Given the description of an element on the screen output the (x, y) to click on. 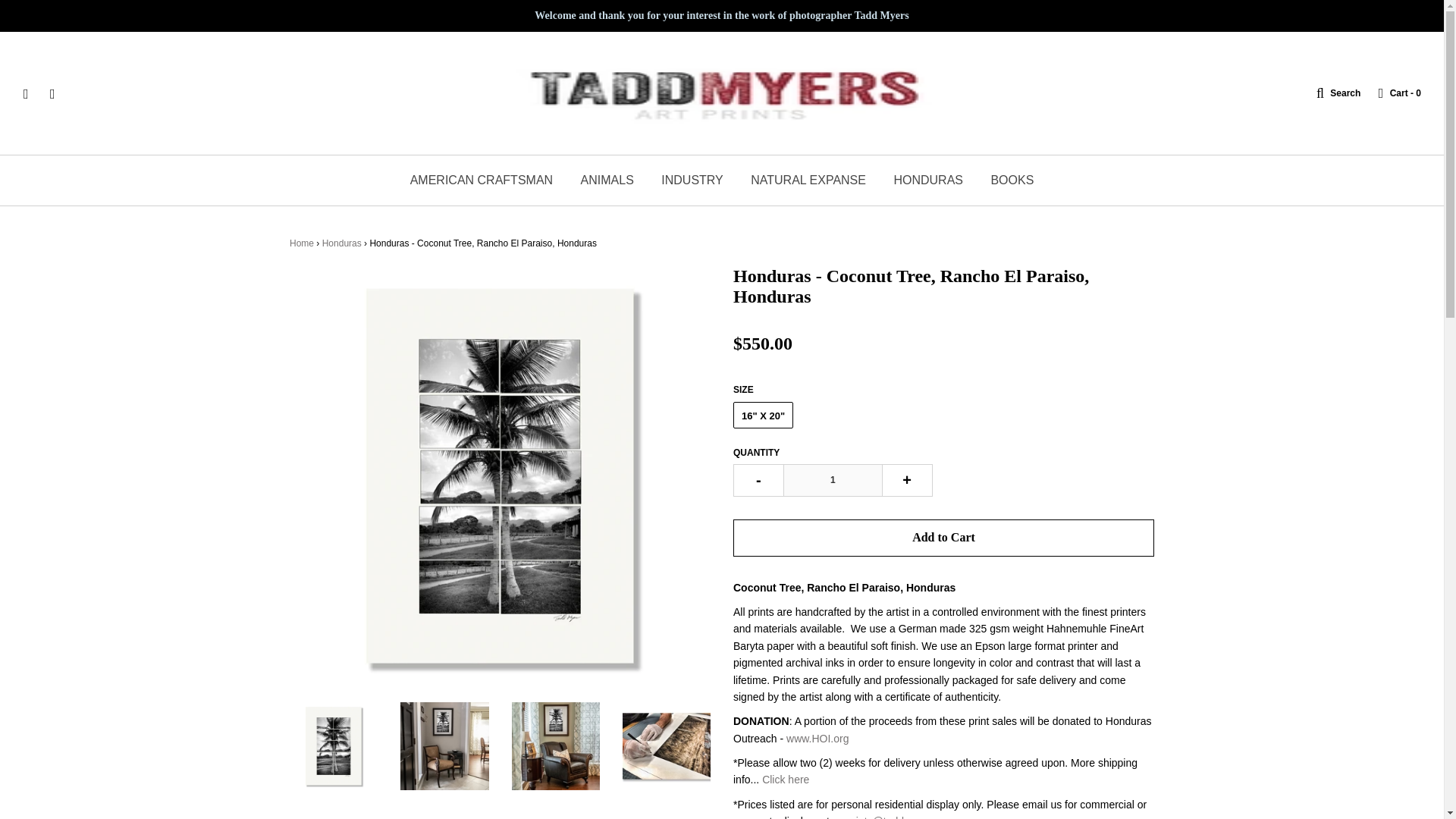
Home (301, 243)
INDUSTRY (692, 180)
AMERICAN CRAFTSMAN (481, 180)
Honduras - Coconut Tree, Rancho El Paraiso, Honduras (666, 745)
Honduras (341, 243)
www.HOI.org (817, 738)
contact (900, 816)
Search (1330, 92)
- (758, 480)
Cart - 0 (1391, 92)
